Given the description of an element on the screen output the (x, y) to click on. 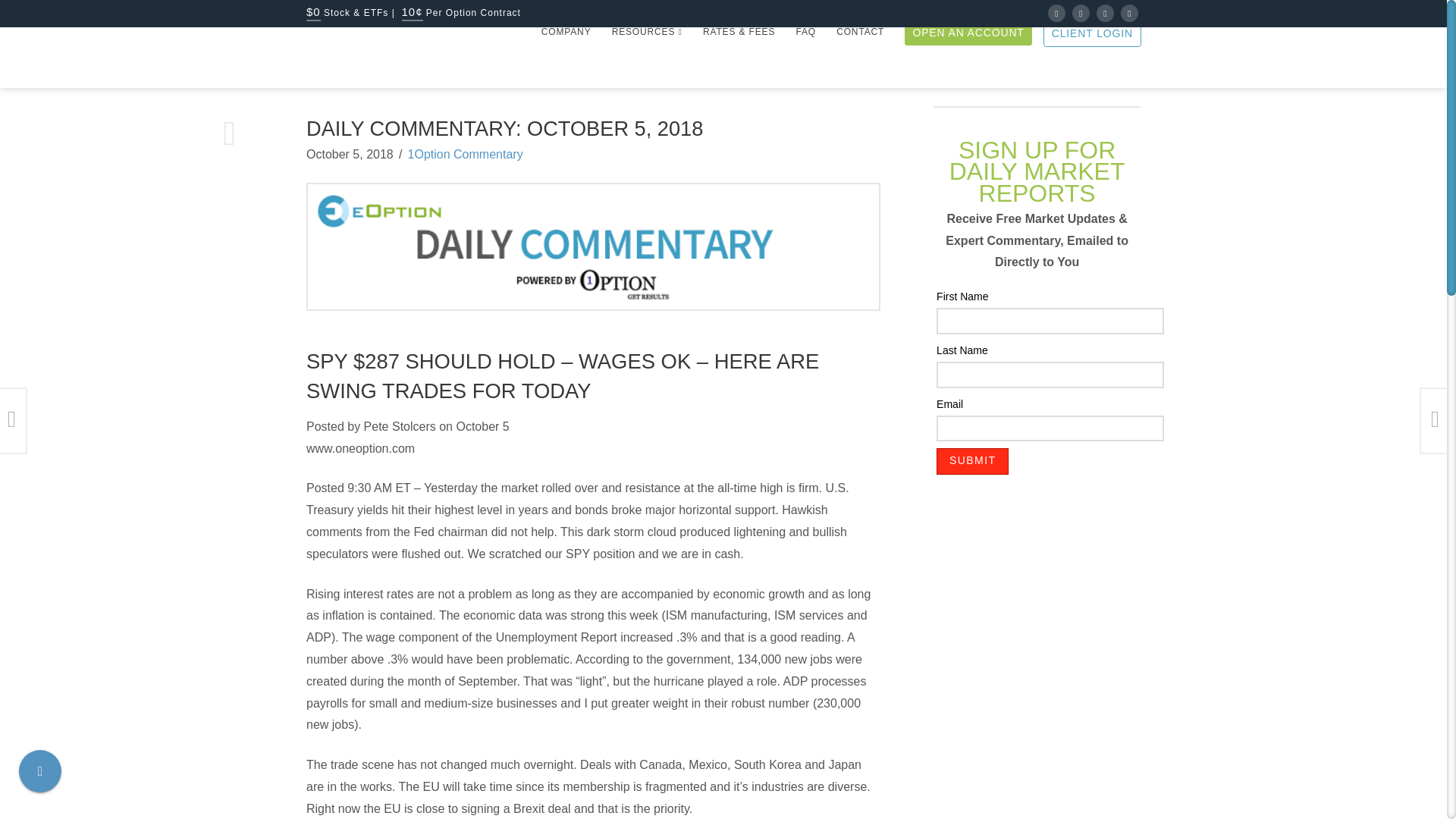
Facebook (1056, 13)
YouTube (1129, 13)
RESOURCES (647, 57)
Submit (972, 461)
Twitter (1080, 13)
COMPANY (566, 57)
LinkedIn (1104, 13)
